Given the description of an element on the screen output the (x, y) to click on. 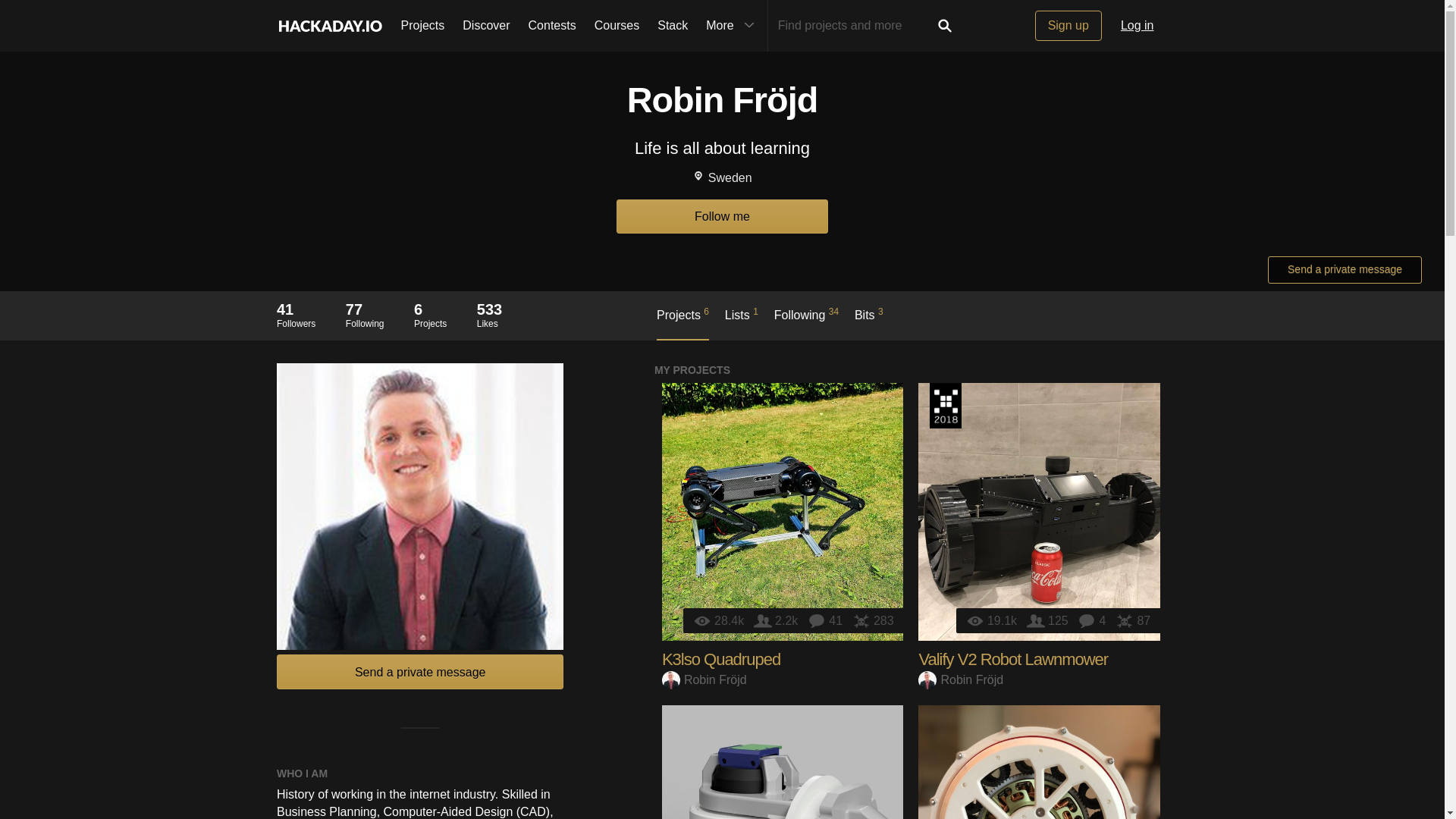
Following 34 (806, 322)
Send a private message (1345, 269)
Valify V2 Robot Lawnmower (1013, 659)
Projects 6 (682, 322)
Followers (1048, 620)
Search (944, 25)
More (732, 25)
Comments (1093, 620)
Followers (778, 620)
View Count (720, 620)
Following 34 (806, 322)
K3lso Quadruped (721, 659)
Courses (617, 25)
Contests (552, 25)
